Given the description of an element on the screen output the (x, y) to click on. 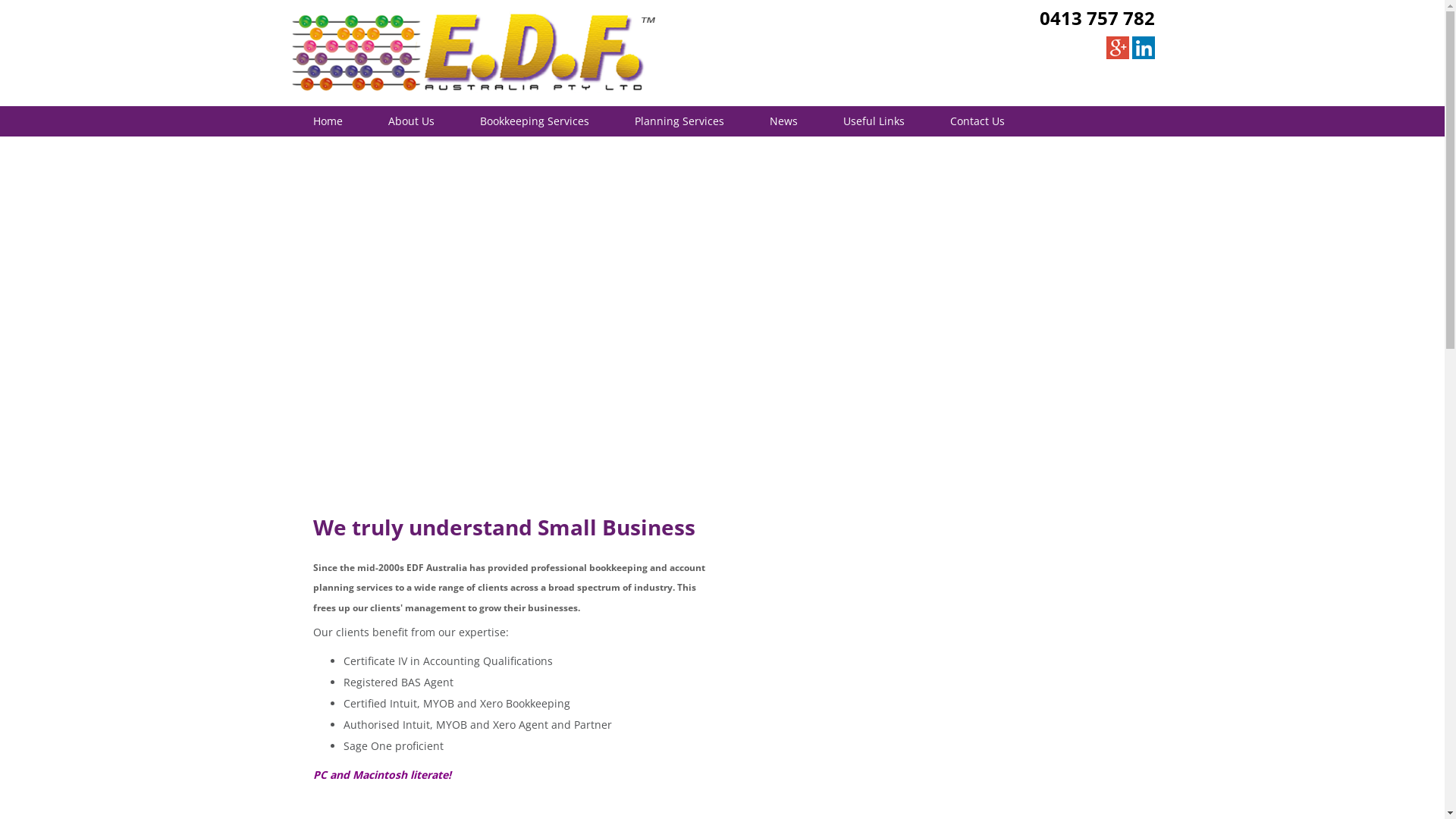
Bookkeeping Services Element type: text (533, 121)
Contact Us Element type: text (976, 121)
News Element type: text (782, 121)
About Us Element type: text (411, 121)
Useful Links Element type: text (873, 121)
Planning Services Element type: text (678, 121)
Home Element type: text (326, 121)
